Given the description of an element on the screen output the (x, y) to click on. 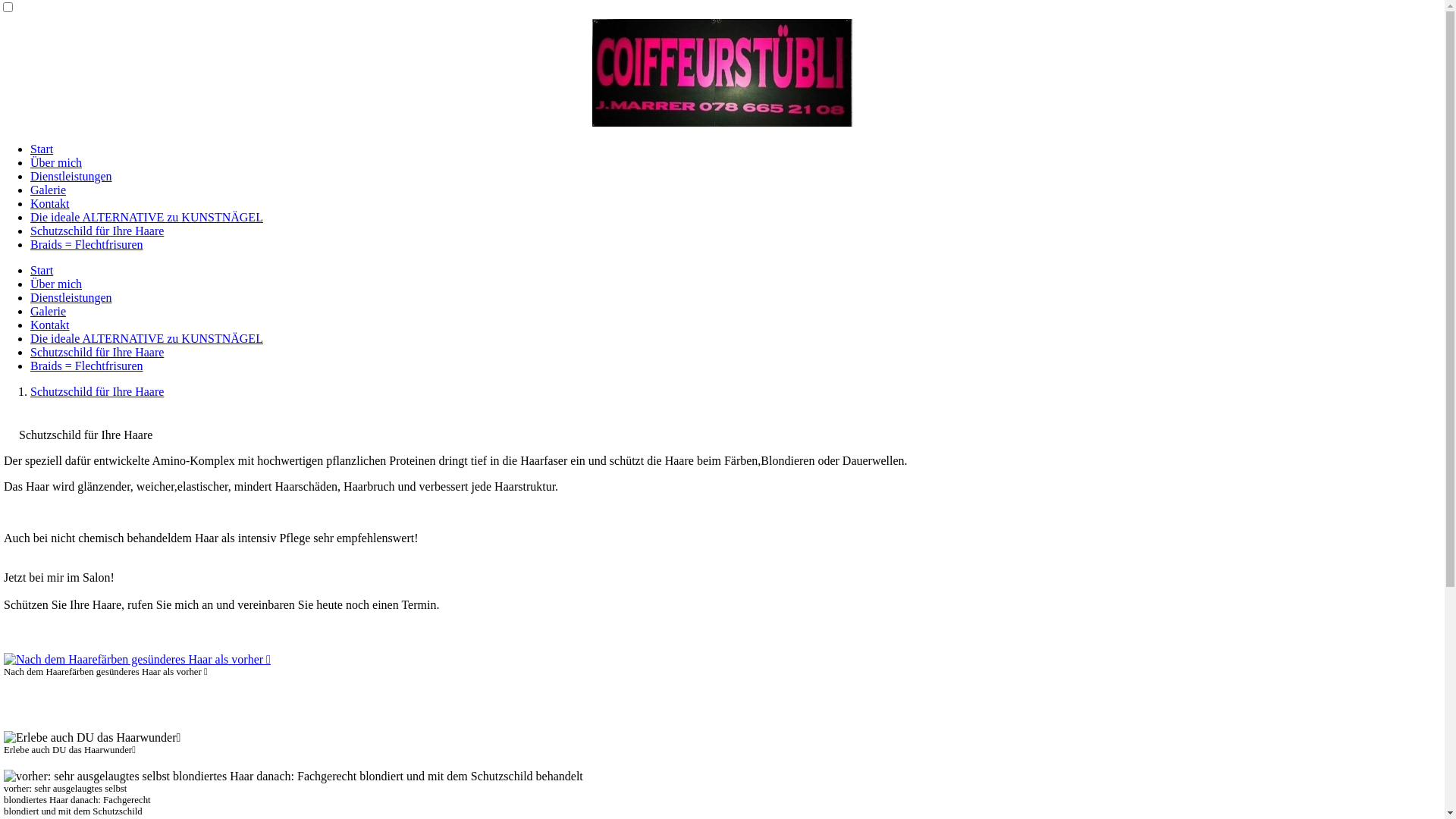
Galerie Element type: text (47, 189)
Start Element type: text (41, 269)
Kontakt Element type: text (49, 203)
Galerie Element type: text (47, 310)
Dienstleistungen Element type: text (71, 297)
Braids = Flechtfrisuren Element type: text (86, 365)
Dienstleistungen Element type: text (71, 175)
Braids = Flechtfrisuren Element type: text (86, 244)
Kontakt Element type: text (49, 324)
Start Element type: text (41, 148)
